Given the description of an element on the screen output the (x, y) to click on. 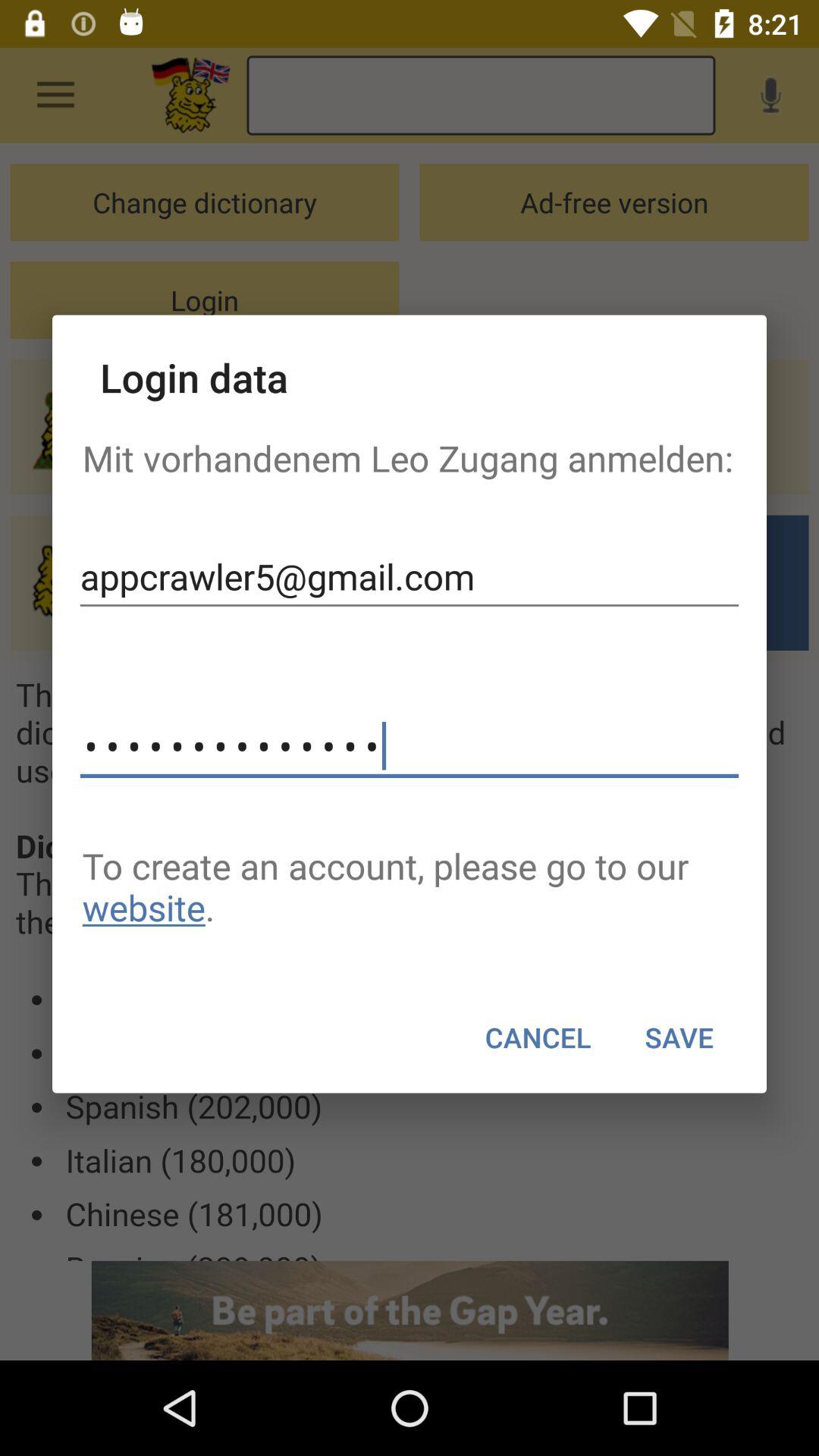
jump until to create an item (409, 886)
